Given the description of an element on the screen output the (x, y) to click on. 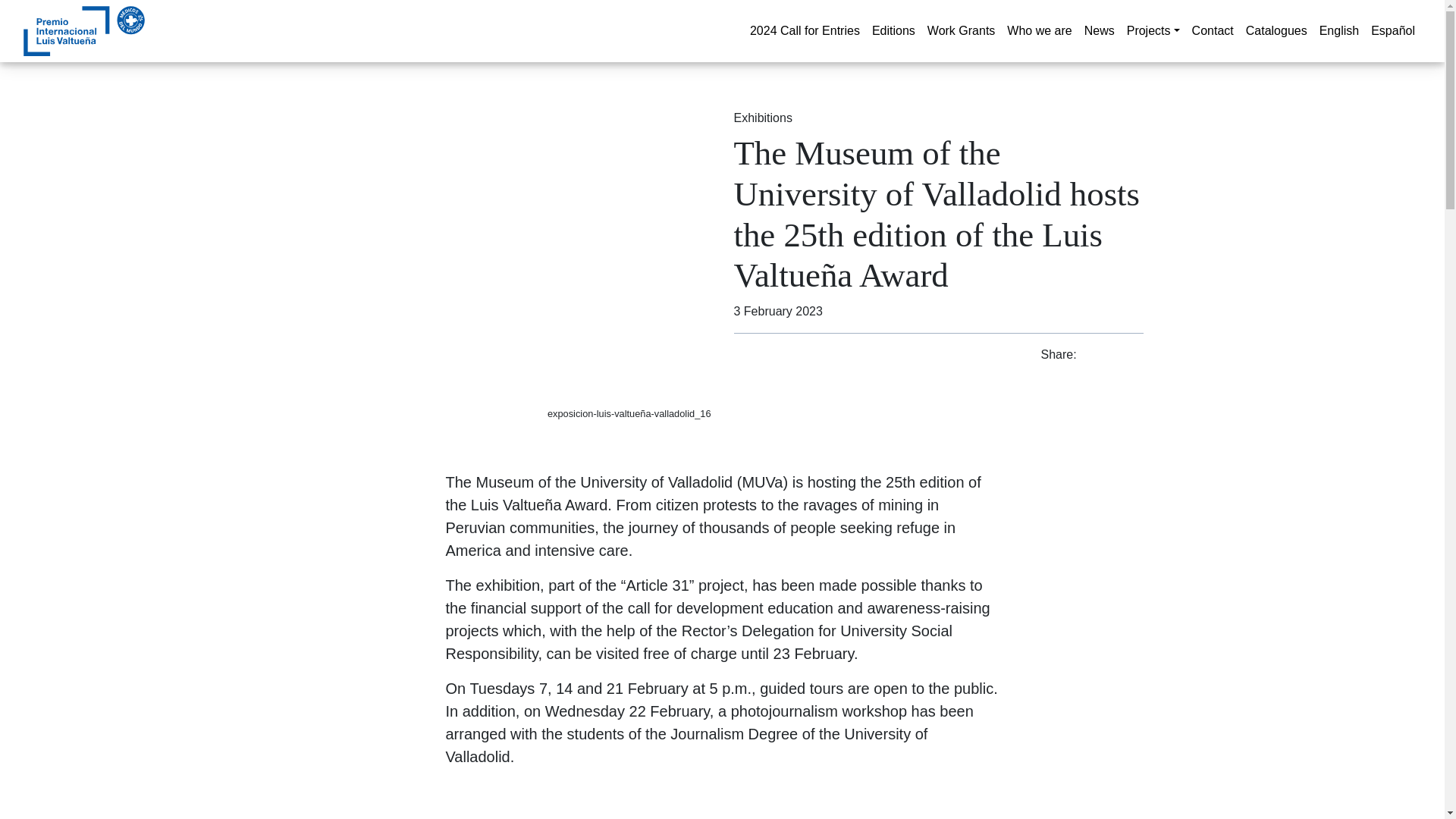
News (1099, 30)
2024 Call for Entries (805, 30)
Who we are (1039, 30)
Contact (1213, 30)
Work Grants (961, 30)
Work Grants (961, 30)
Editions (893, 30)
2024 Call for Entries (805, 30)
Exhibitions (762, 117)
Projects (1153, 30)
Catalogues (1276, 30)
Who we are (1039, 30)
News (1099, 30)
English (1339, 30)
Projects (1153, 30)
